Given the description of an element on the screen output the (x, y) to click on. 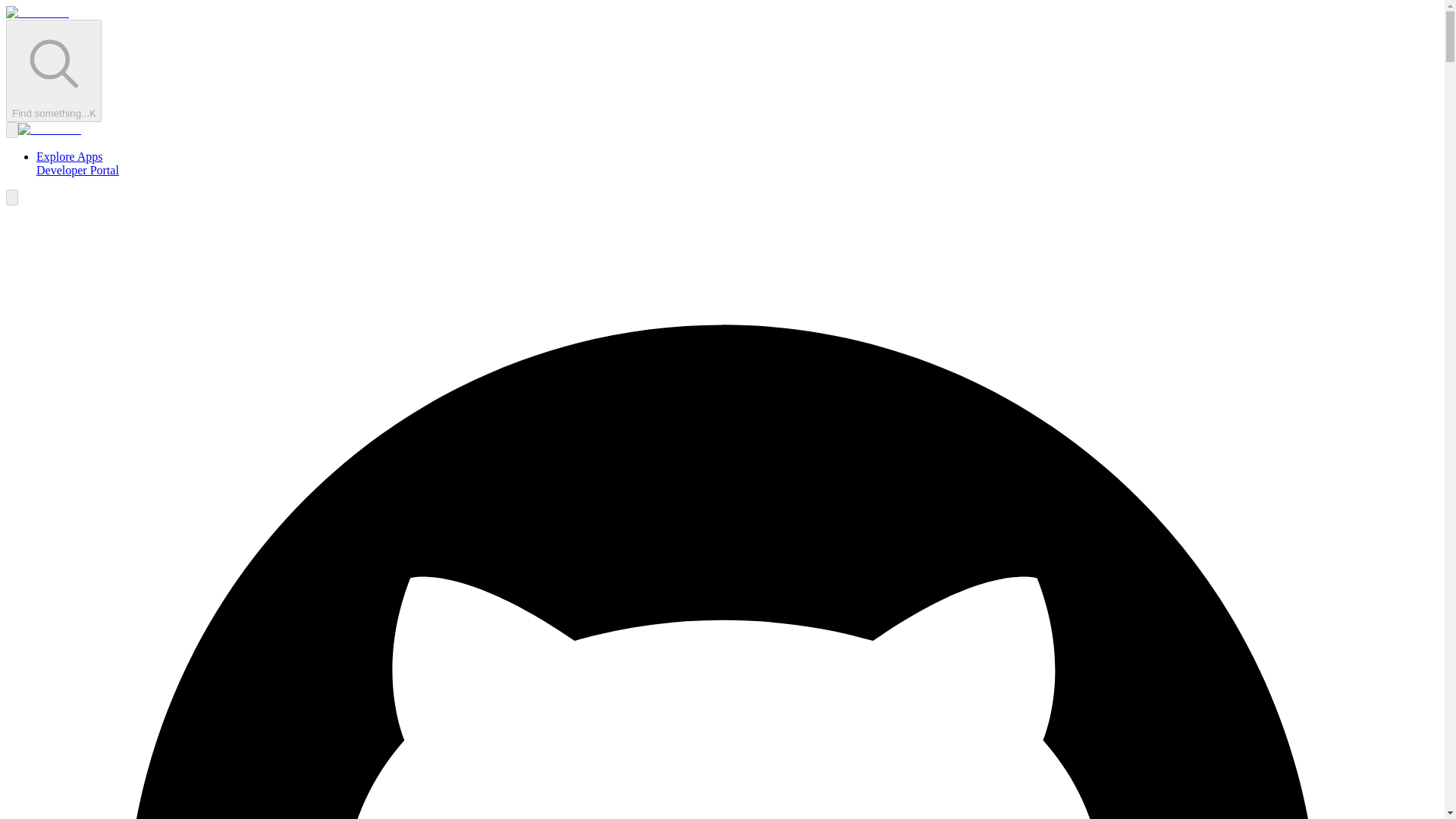
Developer Portal (77, 169)
Find something...K (53, 70)
Explore Apps (69, 155)
